Given the description of an element on the screen output the (x, y) to click on. 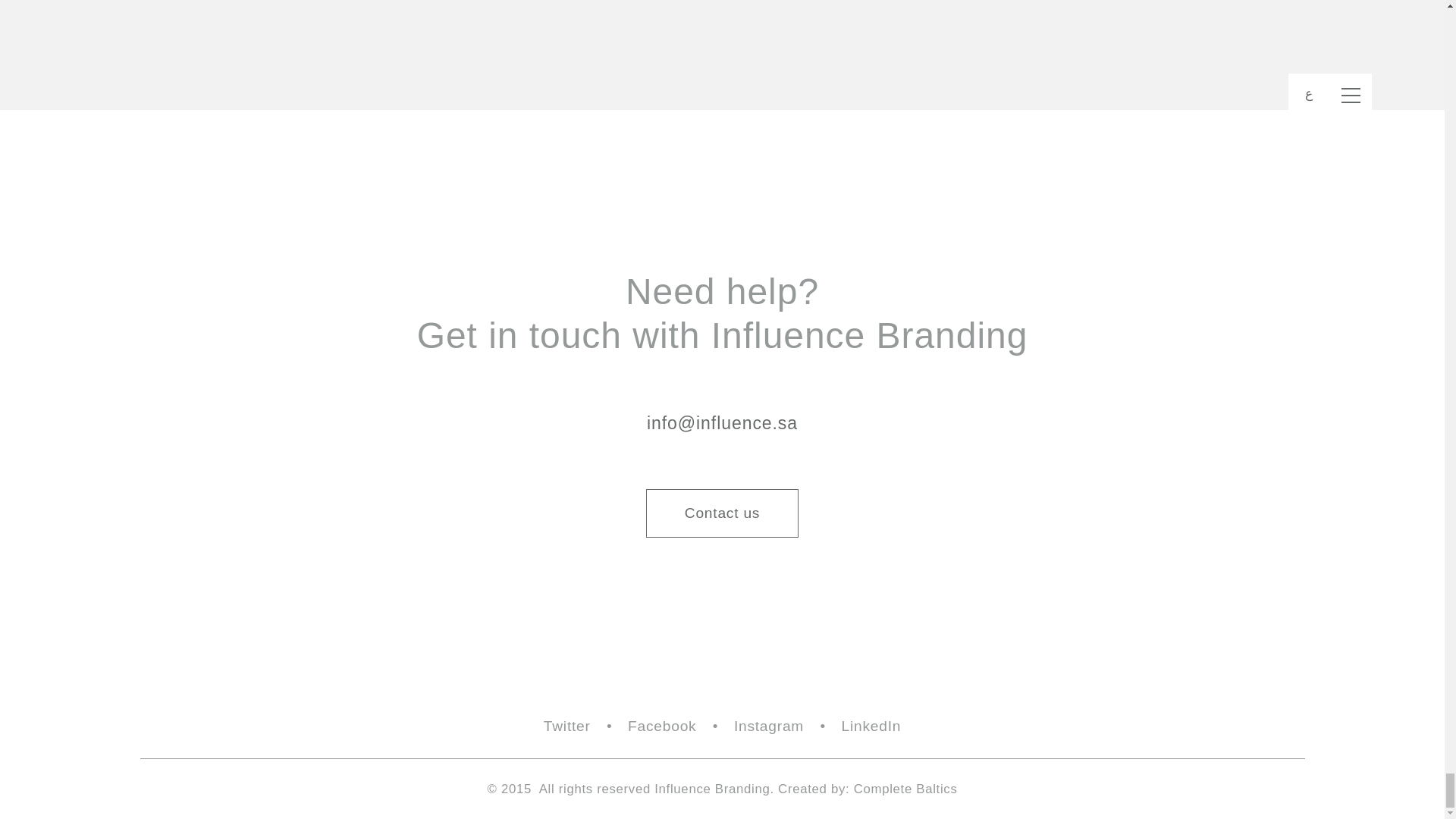
LinkedIn (871, 725)
Twitter (567, 725)
Complete Baltics (905, 789)
Facebook (661, 725)
Instagram (768, 725)
Contact us (722, 512)
